Given the description of an element on the screen output the (x, y) to click on. 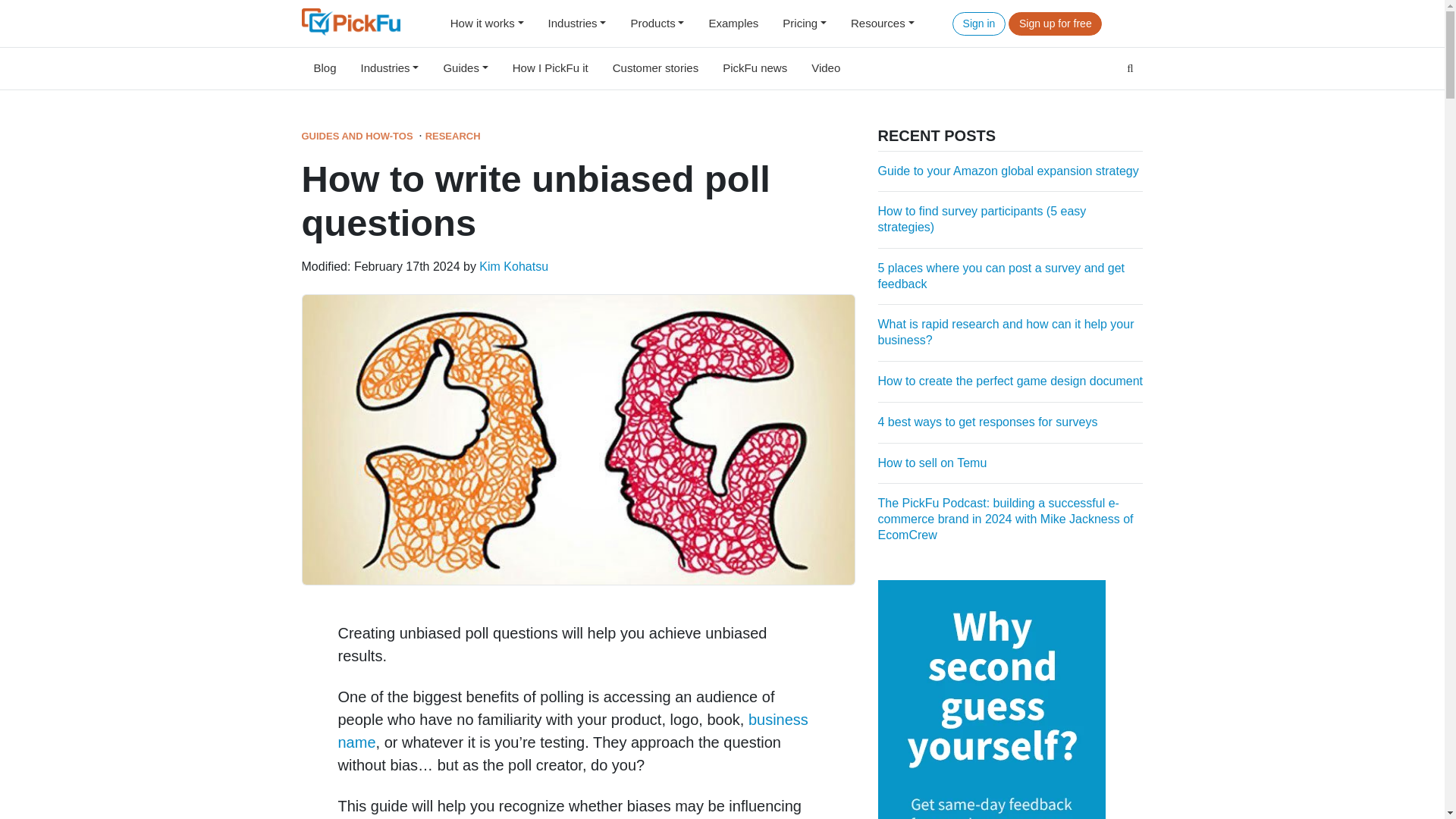
Examples (732, 23)
Pricing (804, 23)
Industries (576, 23)
How it works (486, 23)
Resources (882, 23)
Blog (324, 68)
Examples (732, 23)
How it works (486, 23)
Sign in (979, 24)
Products (657, 23)
Products (657, 23)
Industries (576, 23)
Industries (390, 68)
Pricing (804, 23)
Sign up for free (1055, 24)
